Given the description of an element on the screen output the (x, y) to click on. 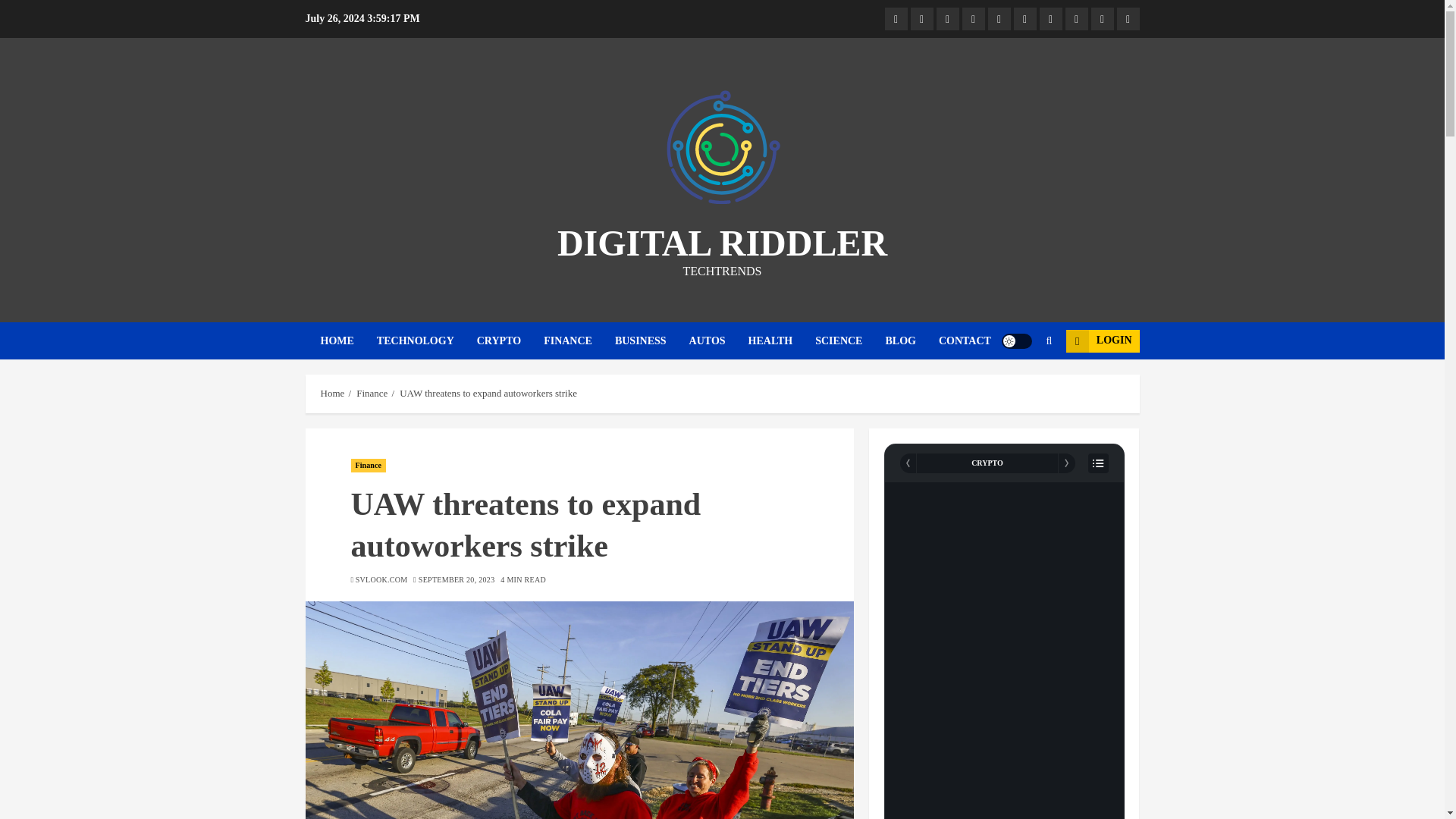
CRYPTO (510, 340)
TECHNOLOGY (427, 340)
UAW threatens to expand autoworkers strike (578, 710)
FINANCE (578, 340)
HOME (347, 340)
SCIENCE (850, 340)
BUSINESS (651, 340)
DIGITAL RIDDLER (721, 242)
HEALTH (781, 340)
AUTOS (718, 340)
